Given the description of an element on the screen output the (x, y) to click on. 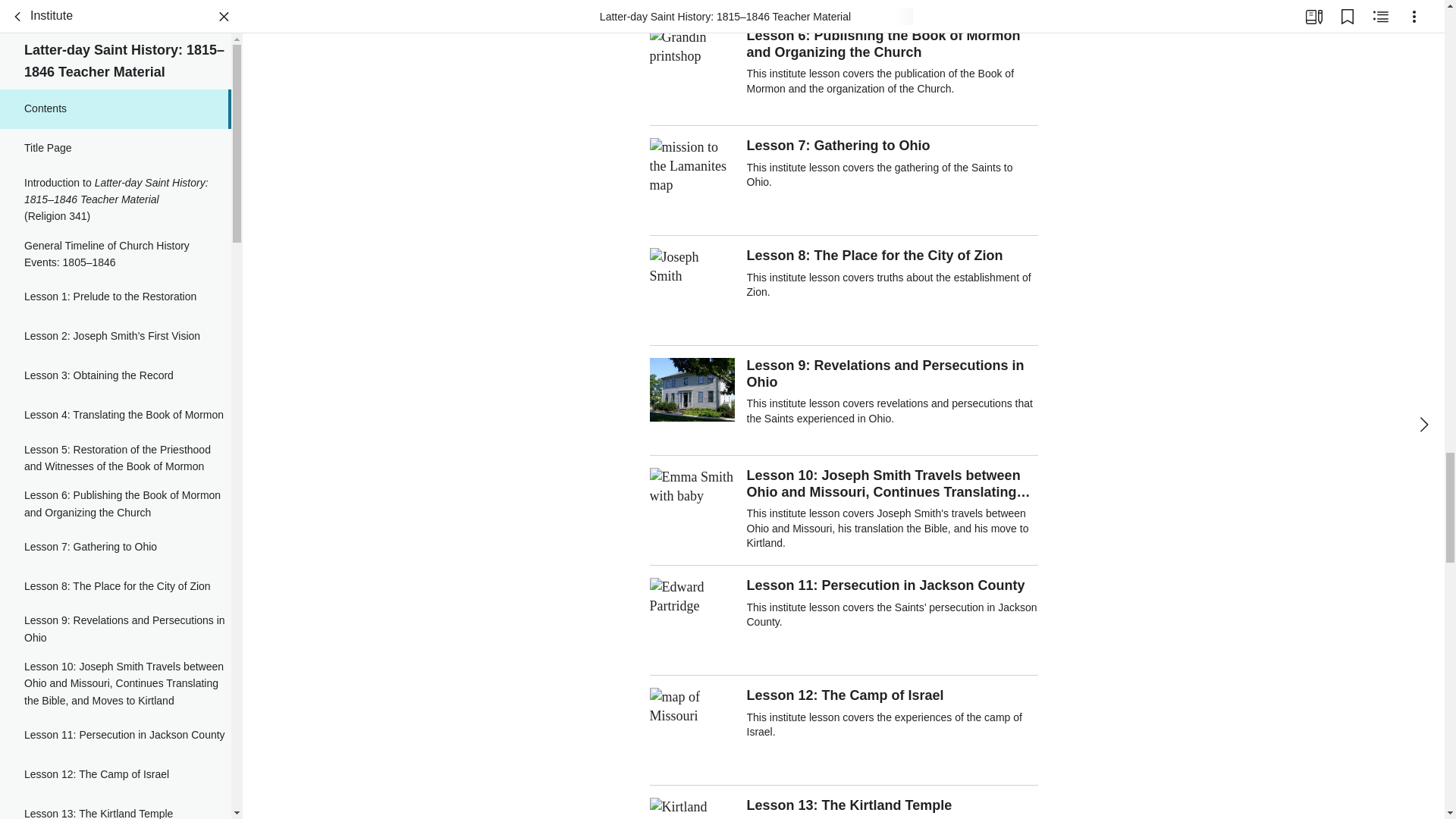
Lesson 24: Doctrinal Developments in Nauvoo (115, 381)
Lesson 20: Nauvoo the Beautiful (115, 148)
Lesson 26: The Martyrdom of Joseph and Hyrum Smith (115, 507)
Lesson 17: Increasing Conflict in Missouri (115, 18)
Lesson 19: Experiences in Liberty Jail and Far West (115, 106)
Lesson 18: The Expulsion of the Saints from Missouri (115, 60)
